Given the description of an element on the screen output the (x, y) to click on. 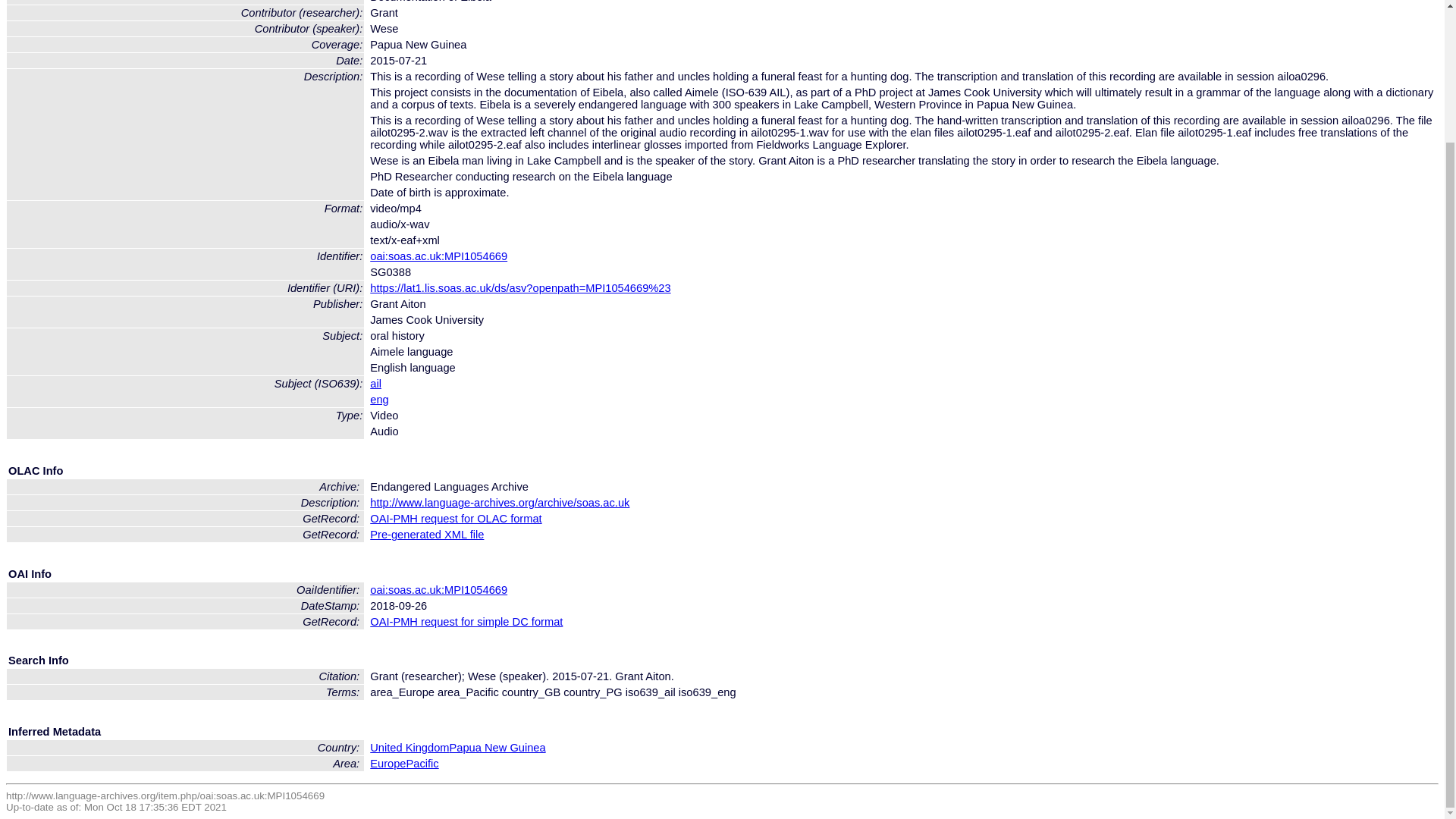
Pacific (422, 763)
eng (378, 399)
Europe (387, 763)
ail (375, 383)
oai:soas.ac.uk:MPI1054669 (437, 589)
United Kingdom (408, 747)
OAI-PMH request for simple DC format (465, 621)
OAI-PMH request for OLAC format (455, 518)
oai:soas.ac.uk:MPI1054669 (437, 256)
Papua New Guinea (497, 747)
Pre-generated XML file (426, 534)
